Given the description of an element on the screen output the (x, y) to click on. 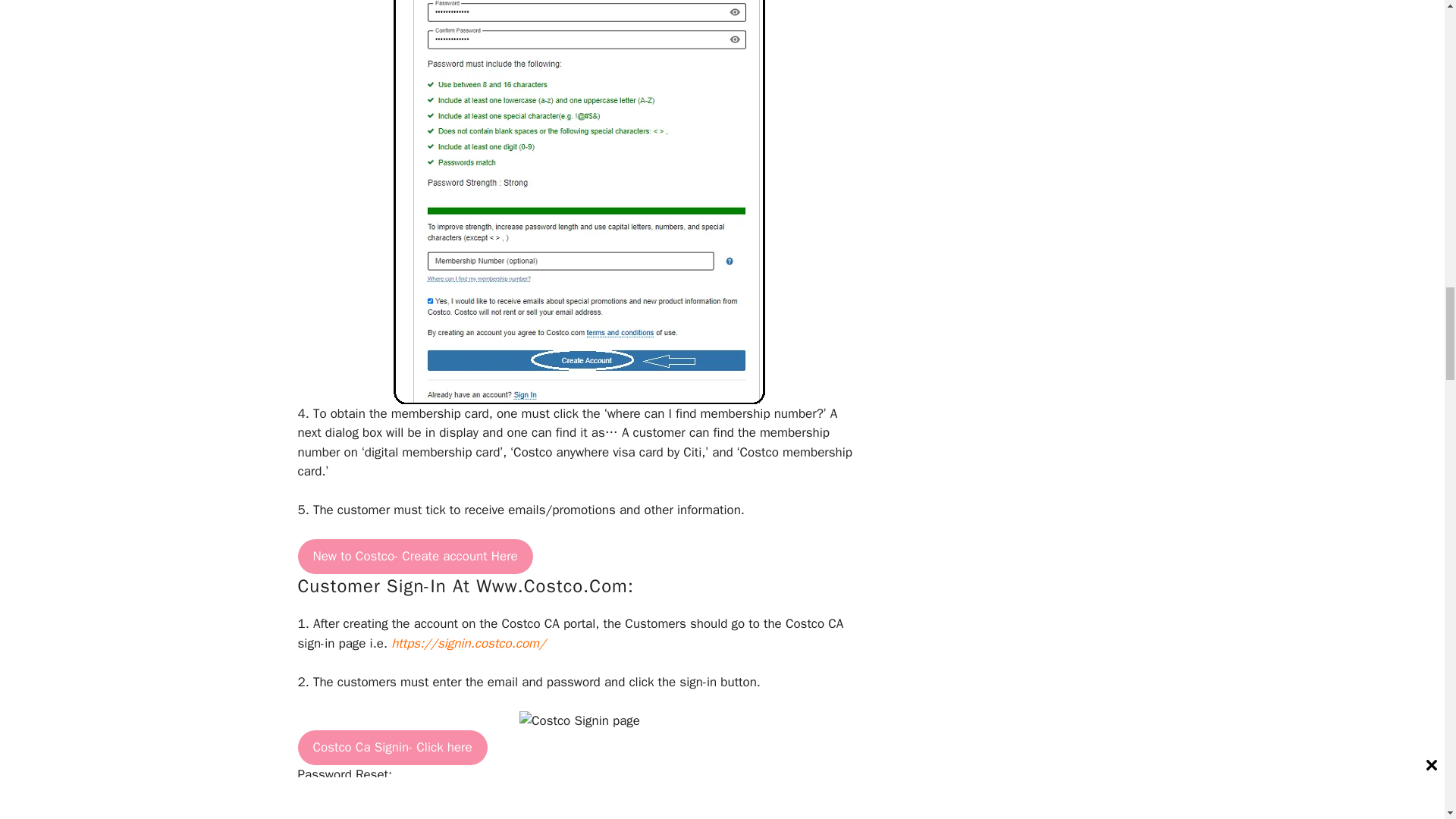
forgot password (662, 812)
New to Costco- Create account Here (414, 556)
Costco Ca Signin- Click here (391, 747)
